Given the description of an element on the screen output the (x, y) to click on. 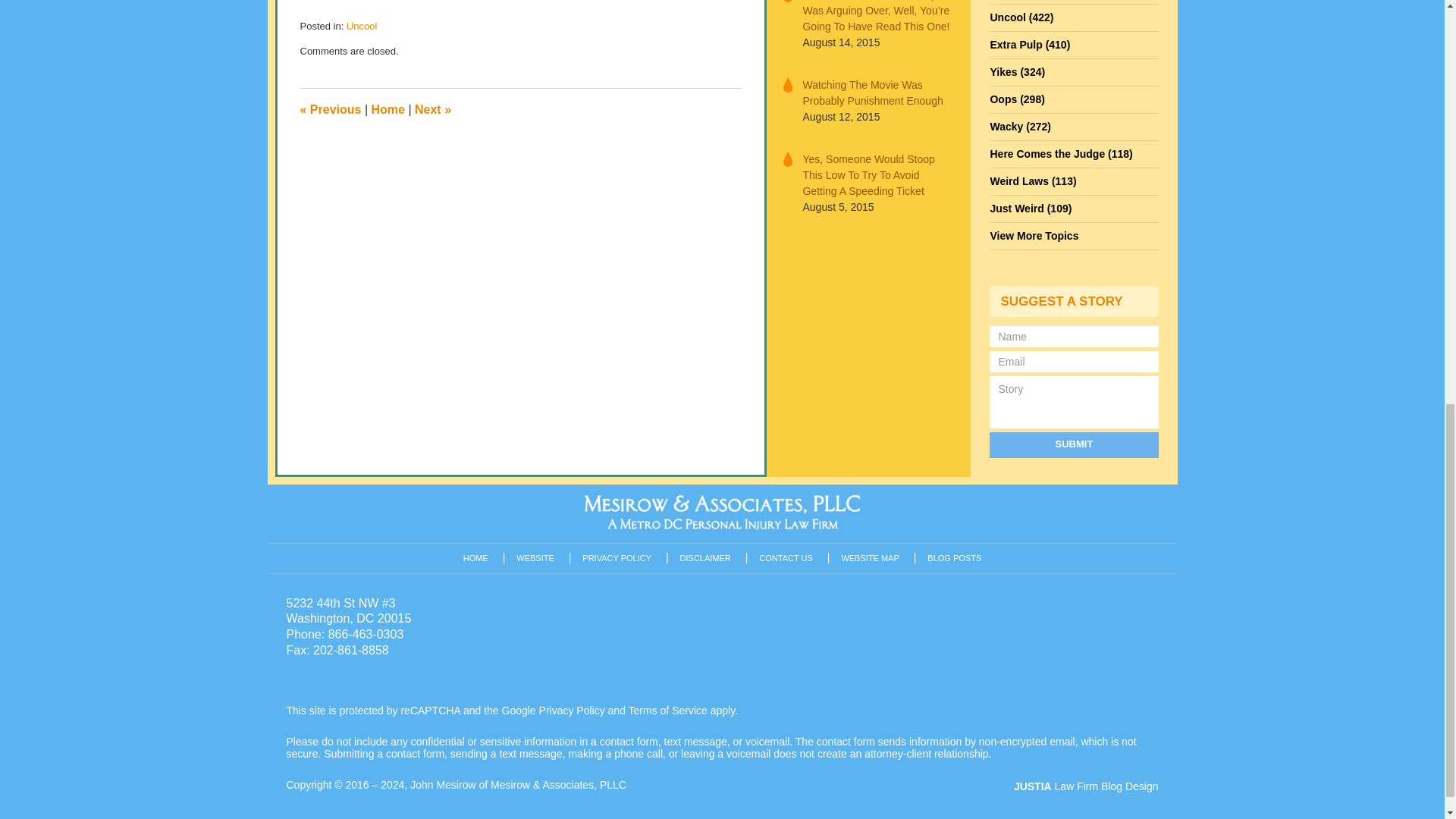
Home (387, 109)
Watching The Movie Was Probably Punishment Enough (877, 92)
Not The Best Mother-Daughter Bonding Experience (330, 109)
View all posts in Uncool (361, 25)
Uncool (361, 25)
